Given the description of an element on the screen output the (x, y) to click on. 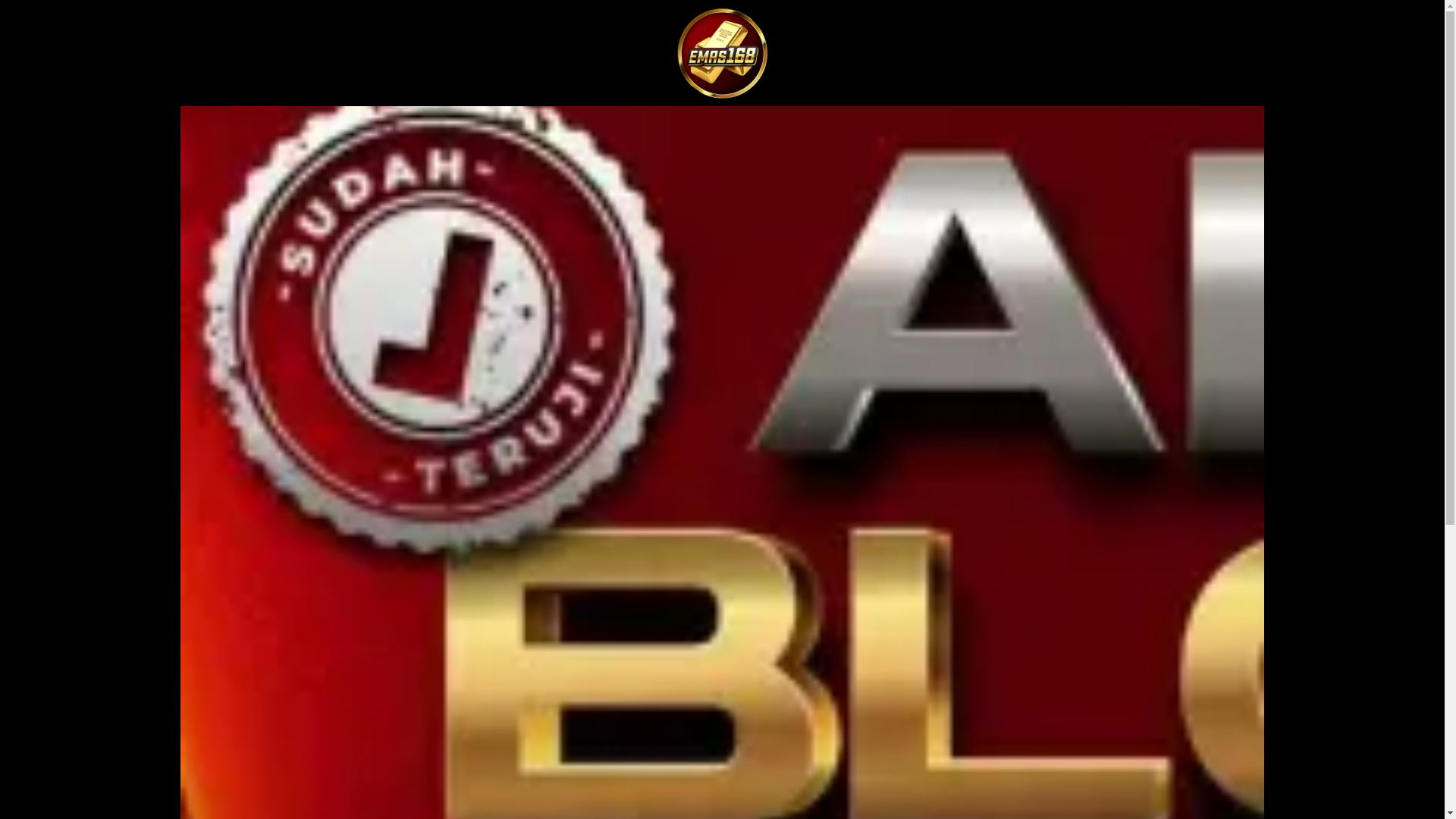
Previous item in carousel (1 of 1) Element type: hover (12, 582)
Next item in carousel (1 of 1) Element type: hover (1431, 582)
